Given the description of an element on the screen output the (x, y) to click on. 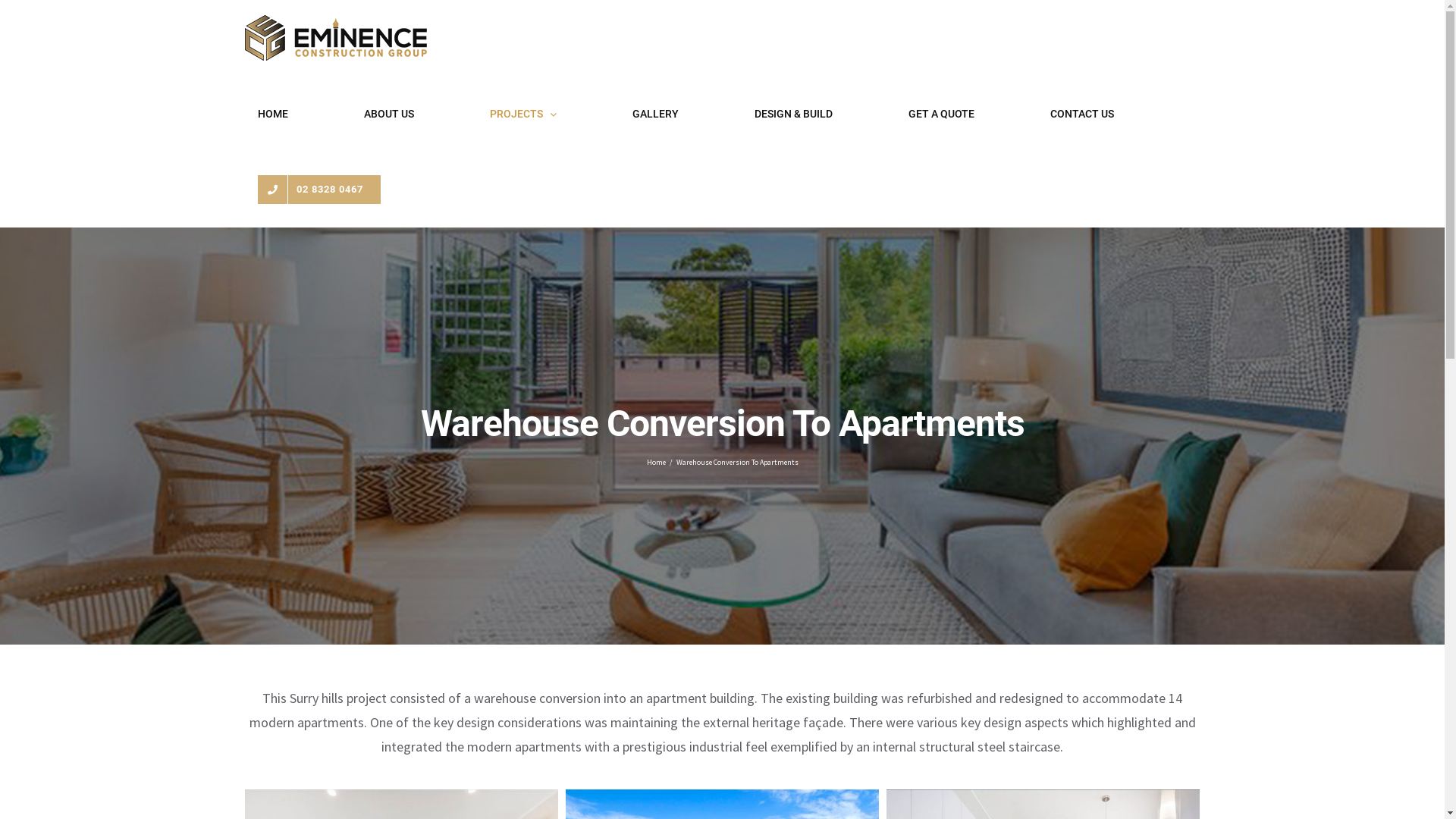
ABOUT US Element type: text (388, 113)
PROJECTS Element type: text (522, 113)
CONTACT US Element type: text (1082, 113)
GALLERY Element type: text (654, 113)
02 8328 0467 Element type: text (318, 189)
GET A QUOTE Element type: text (940, 113)
DESIGN & BUILD Element type: text (793, 113)
Home Element type: text (655, 462)
HOME Element type: text (272, 113)
